Given the description of an element on the screen output the (x, y) to click on. 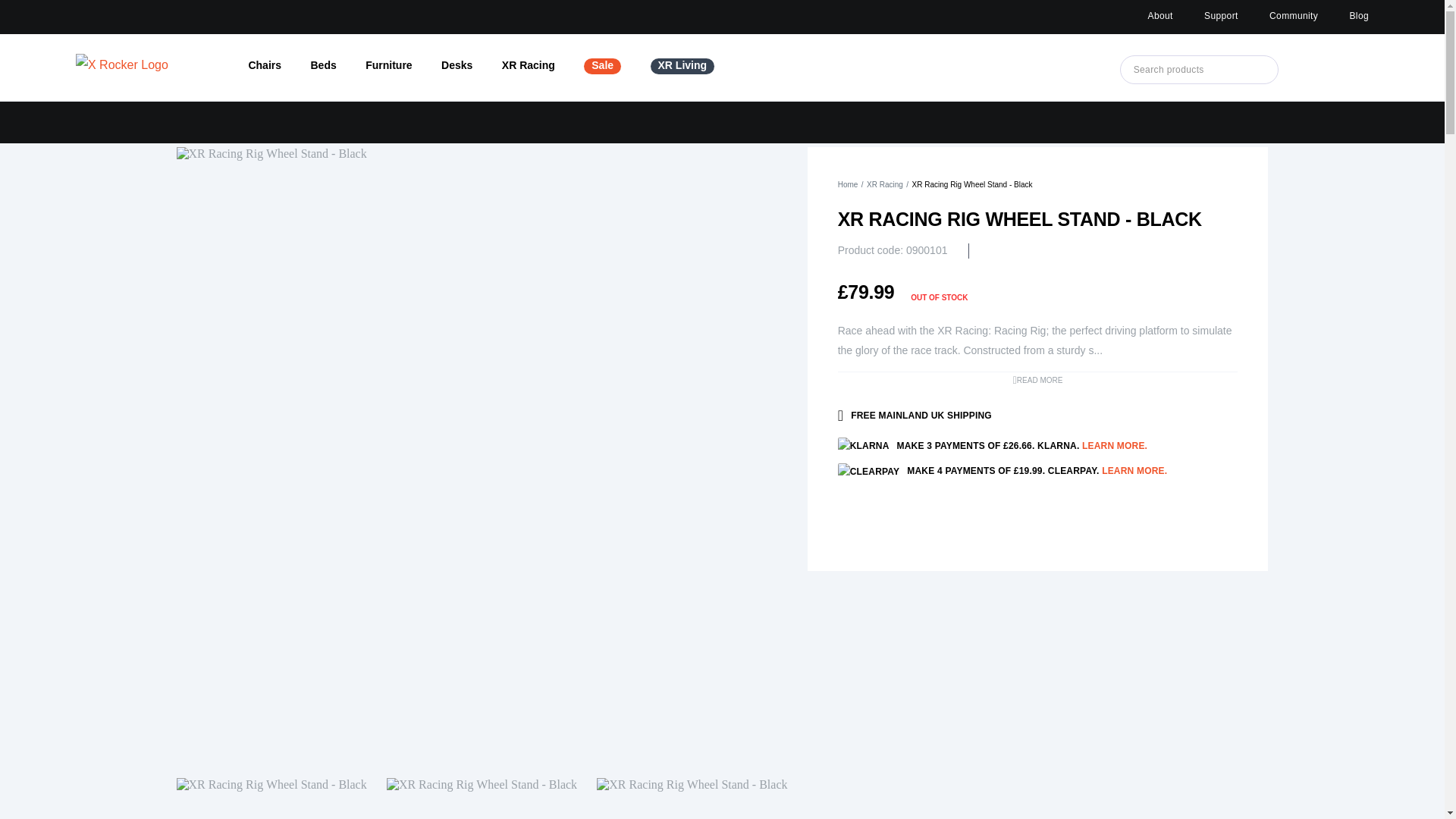
About (1160, 15)
Beds (323, 64)
Support (1221, 15)
Blog (1358, 15)
XR Racing (528, 64)
My Account (1310, 69)
Chairs (264, 64)
Home (848, 184)
Desks (456, 64)
View Cart (1342, 69)
